Given the description of an element on the screen output the (x, y) to click on. 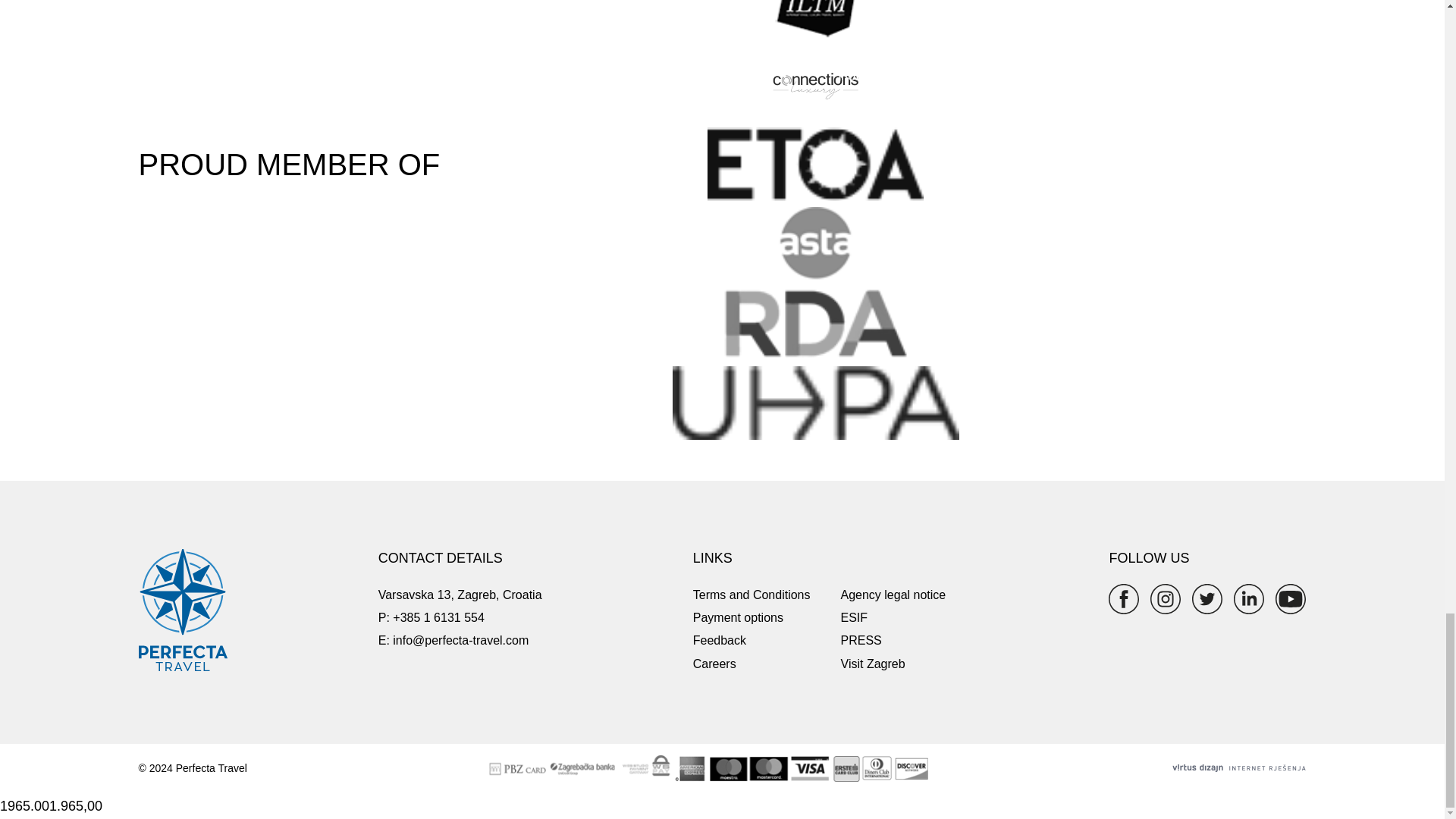
Virtus Dizajn (1239, 768)
Terms and Conditions (751, 594)
Payment options (738, 617)
Feedback (719, 640)
